Given the description of an element on the screen output the (x, y) to click on. 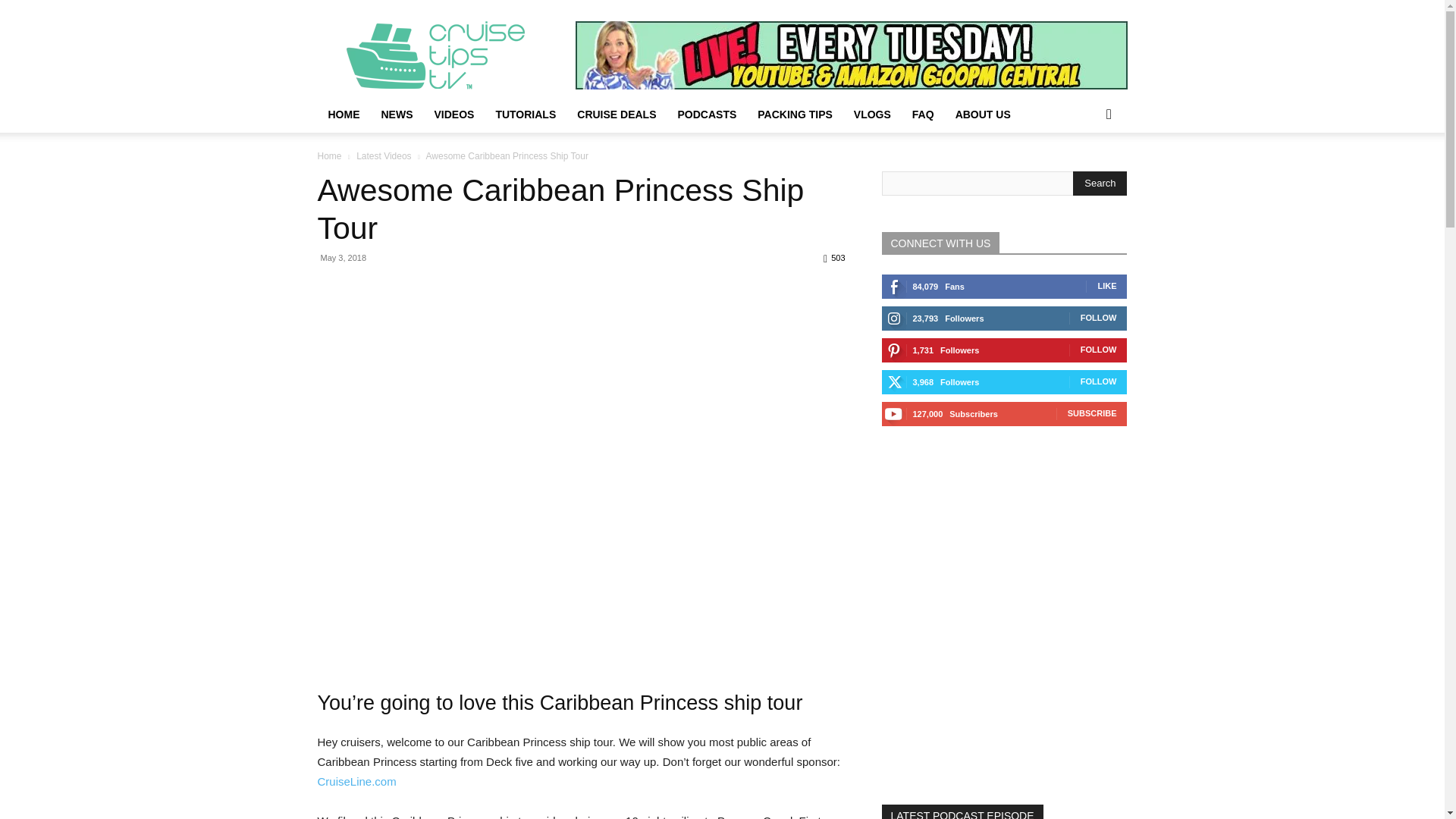
FAQ (922, 114)
View all posts in Latest Videos (384, 155)
CruiseTipsTV - Your source for cruise tips (445, 55)
topFacebookLike (430, 285)
ABOUT US (983, 114)
VIDEOS (453, 114)
HOME (343, 114)
CRUISE DEALS (616, 114)
PACKING TIPS (794, 114)
TUTORIALS (525, 114)
